Given the description of an element on the screen output the (x, y) to click on. 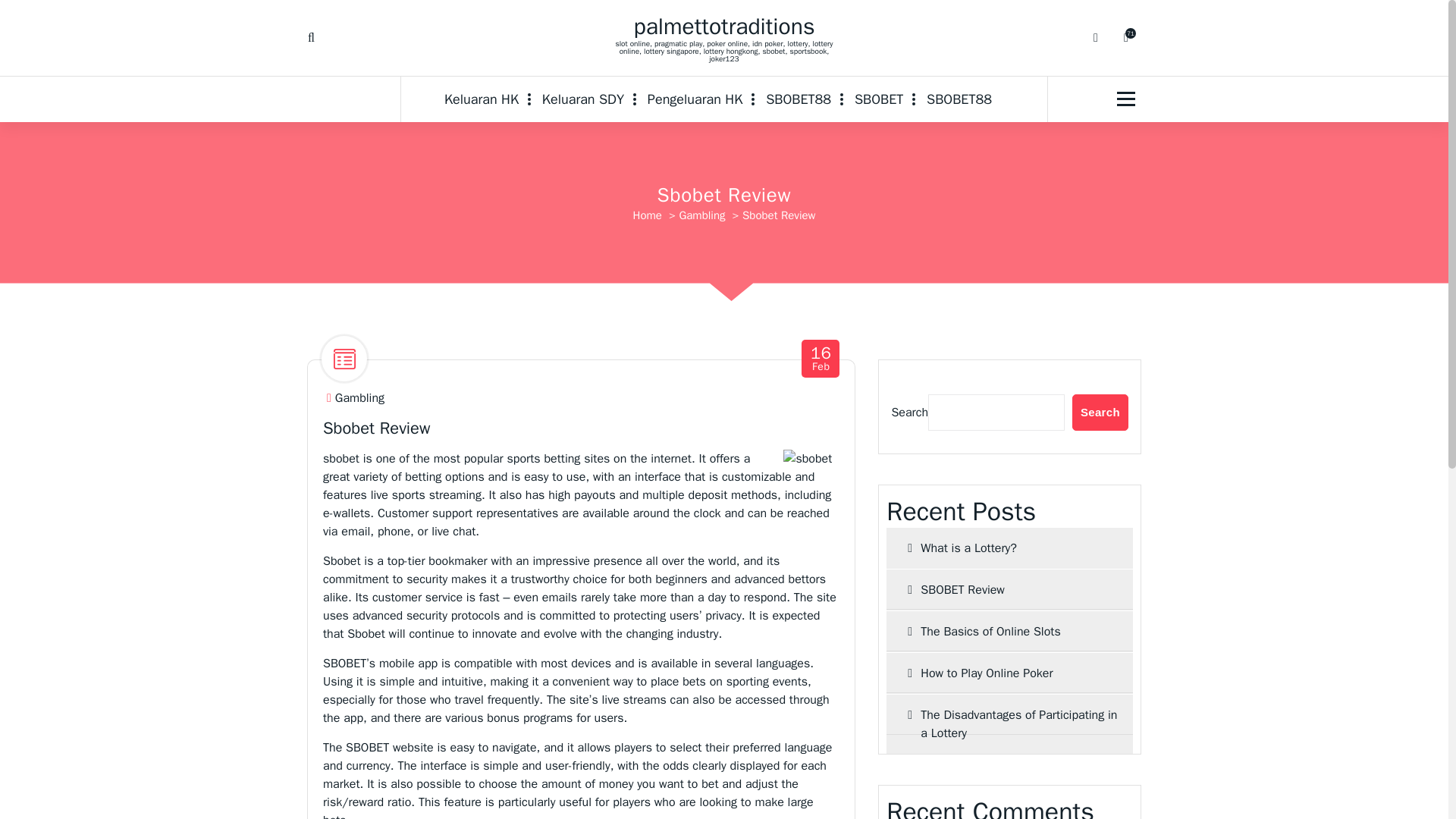
SBOBET (879, 99)
SBOBET (820, 358)
Keluaran SDY (879, 99)
Keluaran HK (582, 99)
The Disadvantages of Participating in a Lottery (487, 99)
Gambling (1009, 723)
Pengeluaran HK (359, 398)
Home (694, 99)
The Basics of Online Slots (647, 214)
SBOBET88 (1009, 630)
palmettotraditions (959, 99)
SBOBET Review (724, 26)
SBOBET88 (1009, 589)
How to Play Online Poker (959, 99)
